Given the description of an element on the screen output the (x, y) to click on. 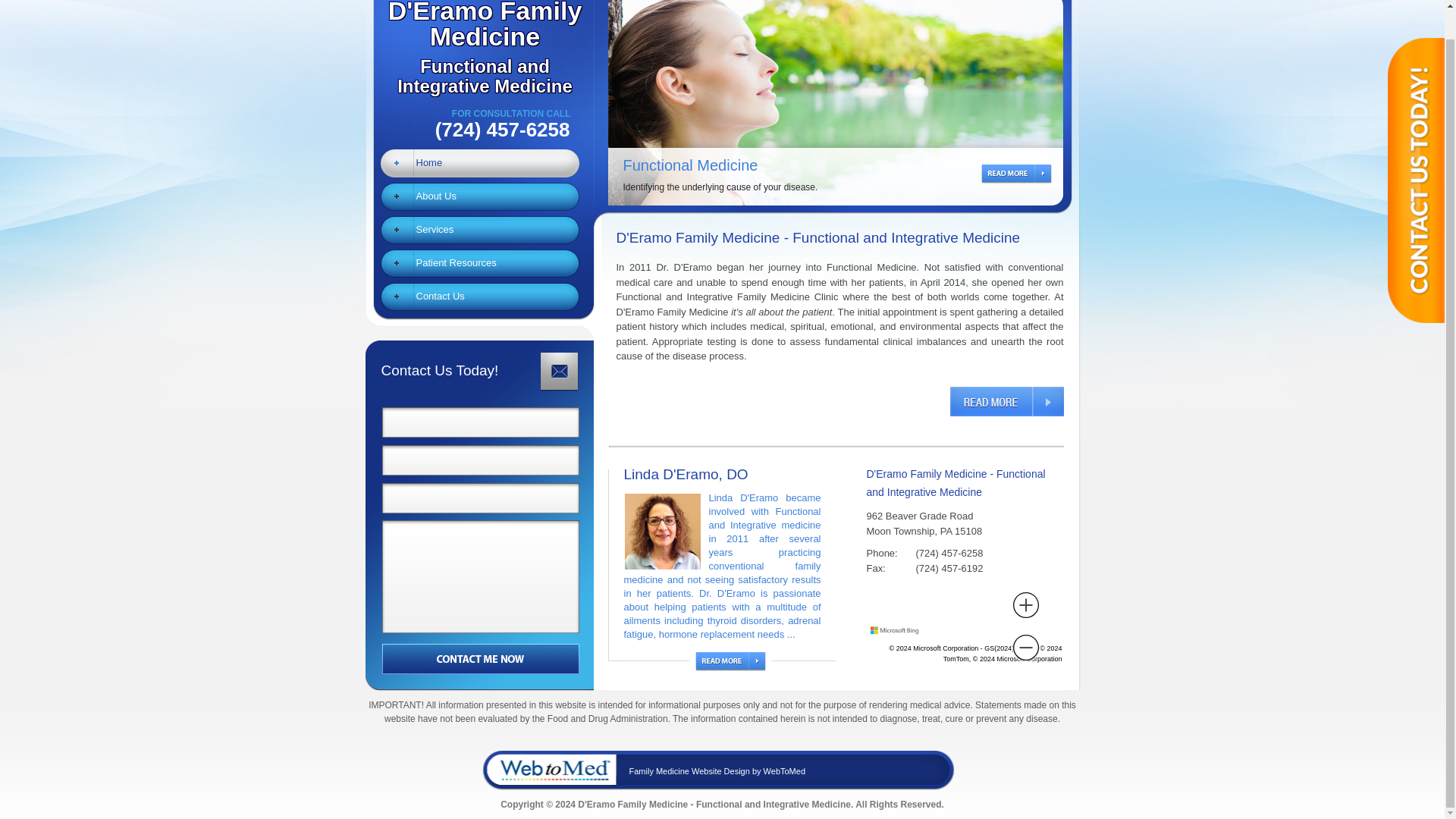
Submit Message (480, 657)
Contact Us (480, 296)
Submit Message (478, 48)
About Us (480, 657)
Home (480, 196)
Patient Resources (480, 162)
Services (480, 262)
Home (480, 229)
Contact Us (480, 162)
About Us (480, 296)
read more (480, 196)
Services (1005, 401)
Patient Resources (480, 229)
Family Medicine Website Design by WebToMed (480, 262)
